Given the description of an element on the screen output the (x, y) to click on. 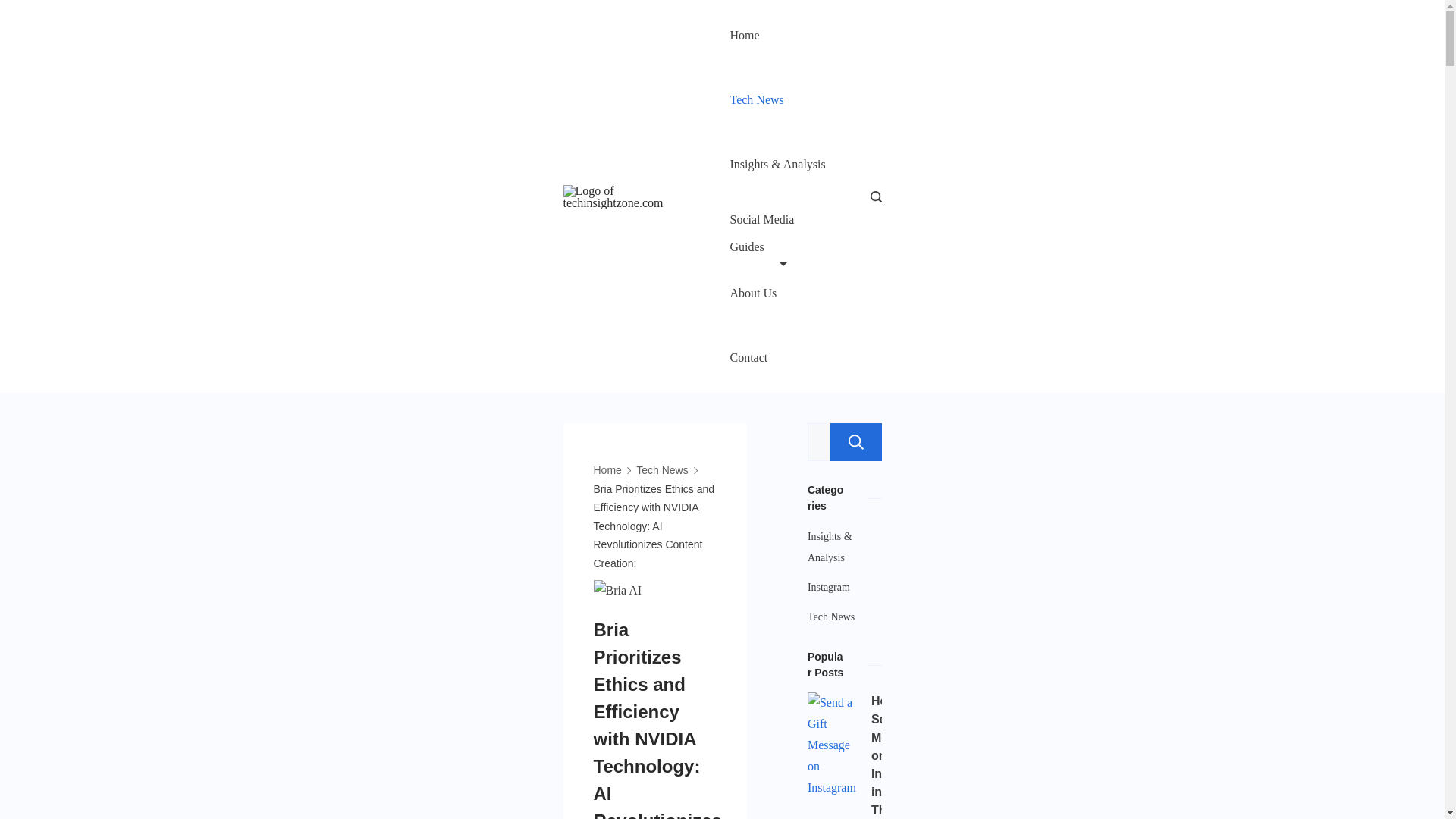
Tech News (661, 469)
About Us (752, 293)
Home (606, 469)
Tech News (756, 99)
Social Media Guides (778, 228)
